Given the description of an element on the screen output the (x, y) to click on. 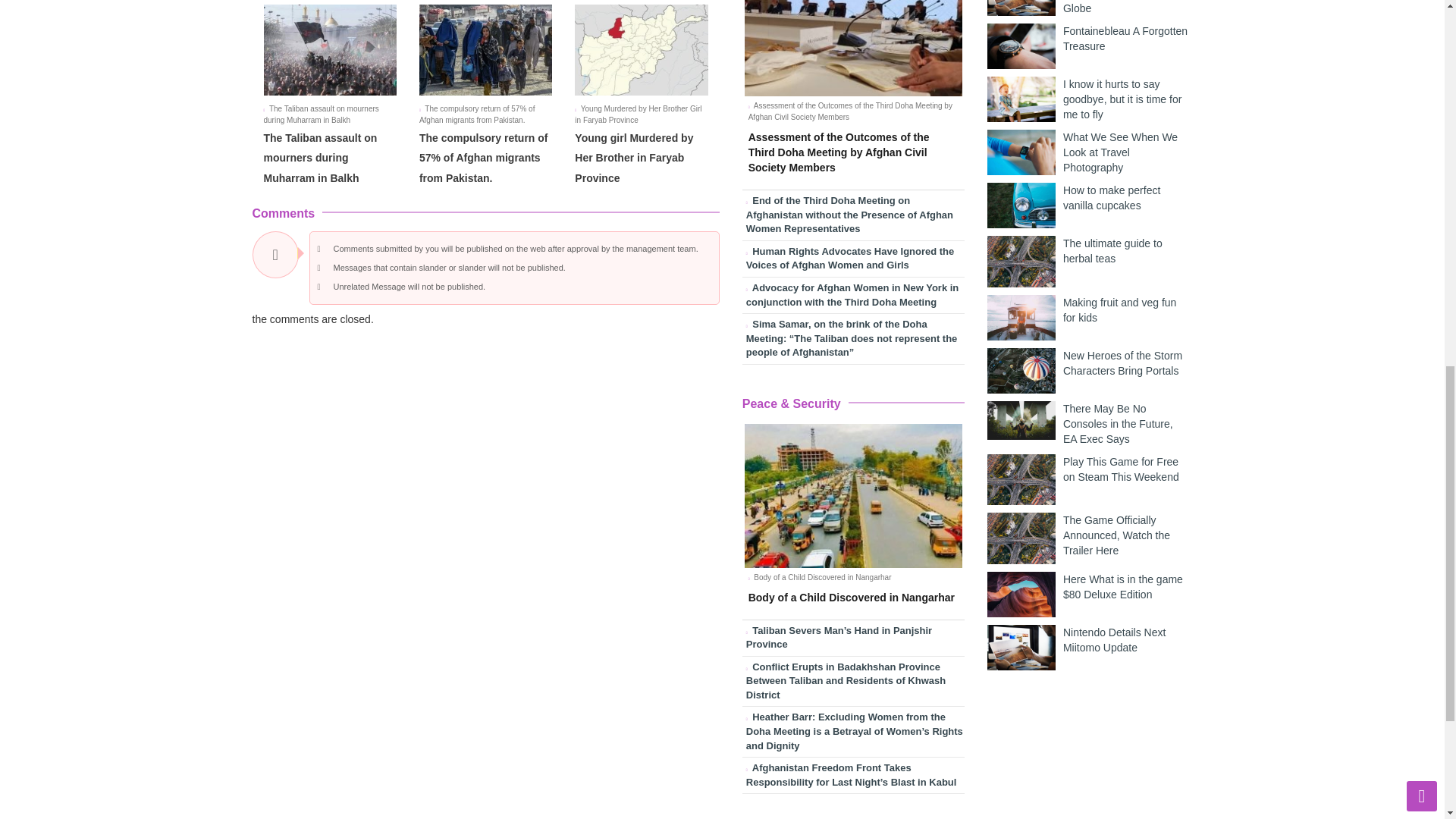
The Taliban assault on mourners during Muharram in Balkh (320, 157)
